Given the description of an element on the screen output the (x, y) to click on. 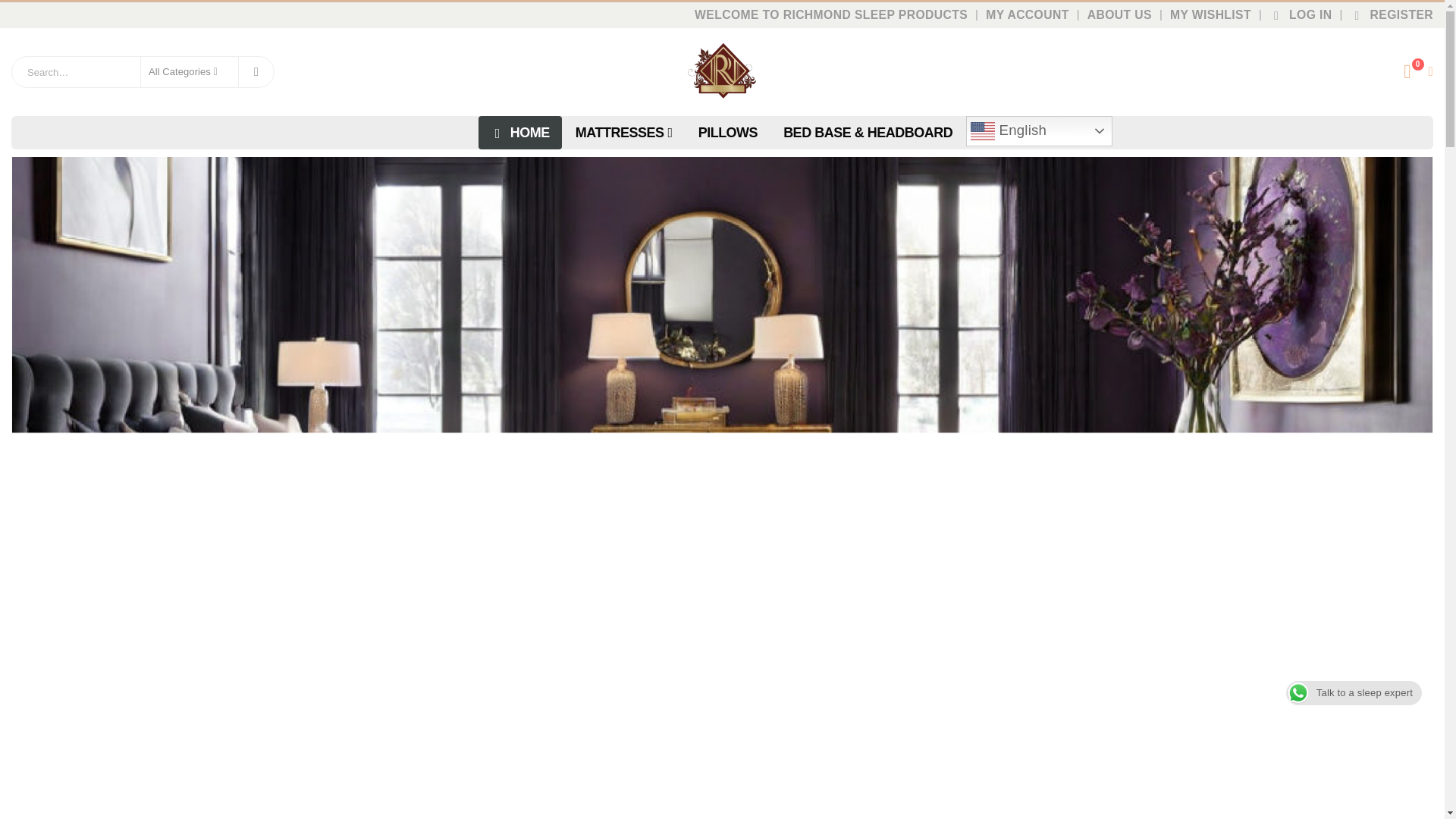
MATTRESSES (623, 132)
MY ACCOUNT (1029, 14)
ABOUT US (1119, 14)
LOG IN (1300, 14)
HOME (520, 132)
MY WISHLIST (1210, 14)
English (1039, 131)
PILLOWS (727, 132)
REGISTER (1389, 14)
Richmond Sleep Products - Richmond Sleep Products (722, 71)
